Given the description of an element on the screen output the (x, y) to click on. 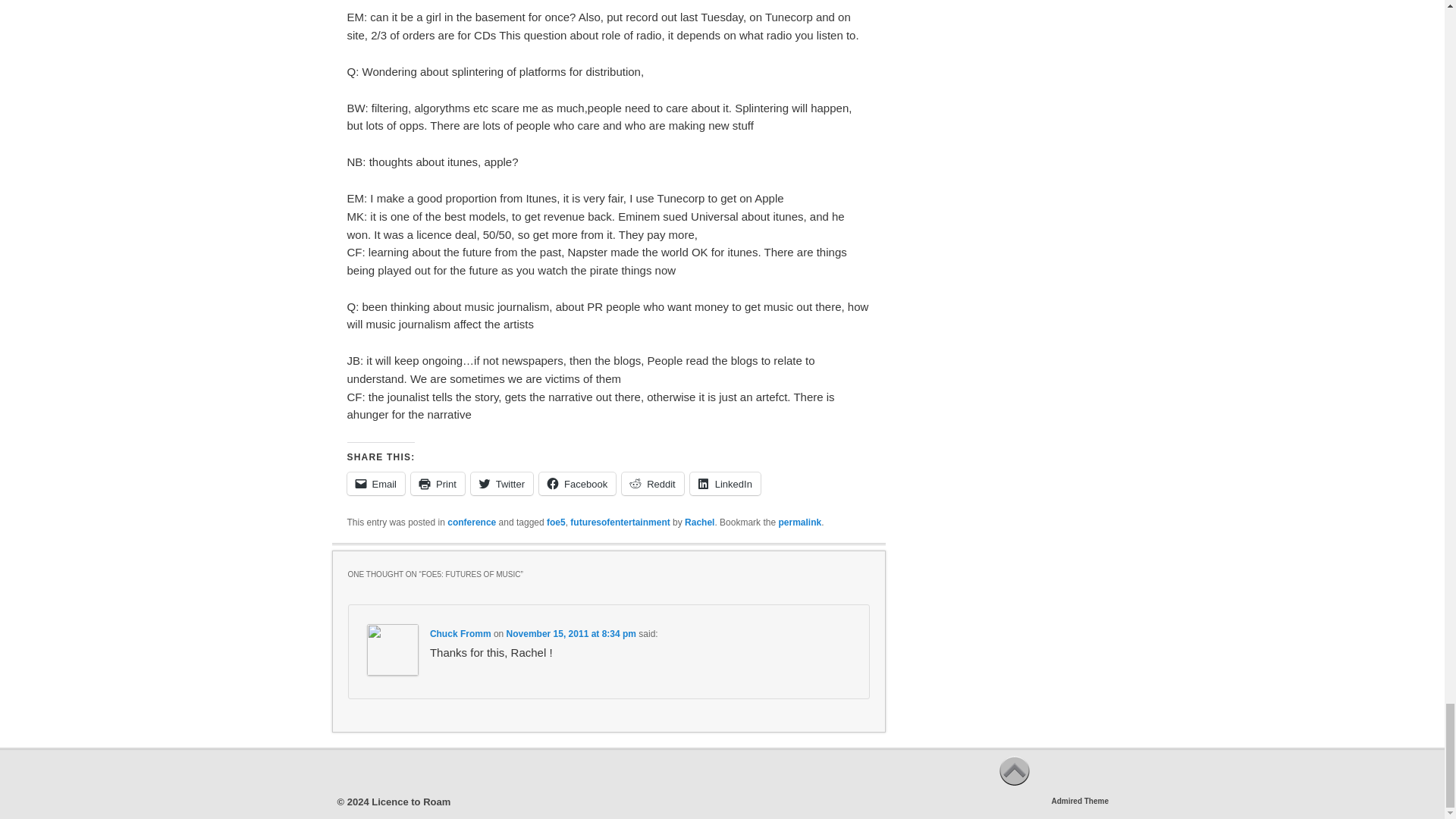
Click to print (437, 483)
Click to share on Twitter (501, 483)
LinkedIn (725, 483)
Click to share on LinkedIn (725, 483)
futuresofentertainment (619, 521)
November 15, 2011 at 8:34 pm (571, 633)
conference (471, 521)
Print (437, 483)
Click to share on Reddit (652, 483)
Click to share on Facebook (576, 483)
Chuck Fromm (460, 633)
Rachel (699, 521)
Twitter (501, 483)
Reddit (652, 483)
Email (376, 483)
